Given the description of an element on the screen output the (x, y) to click on. 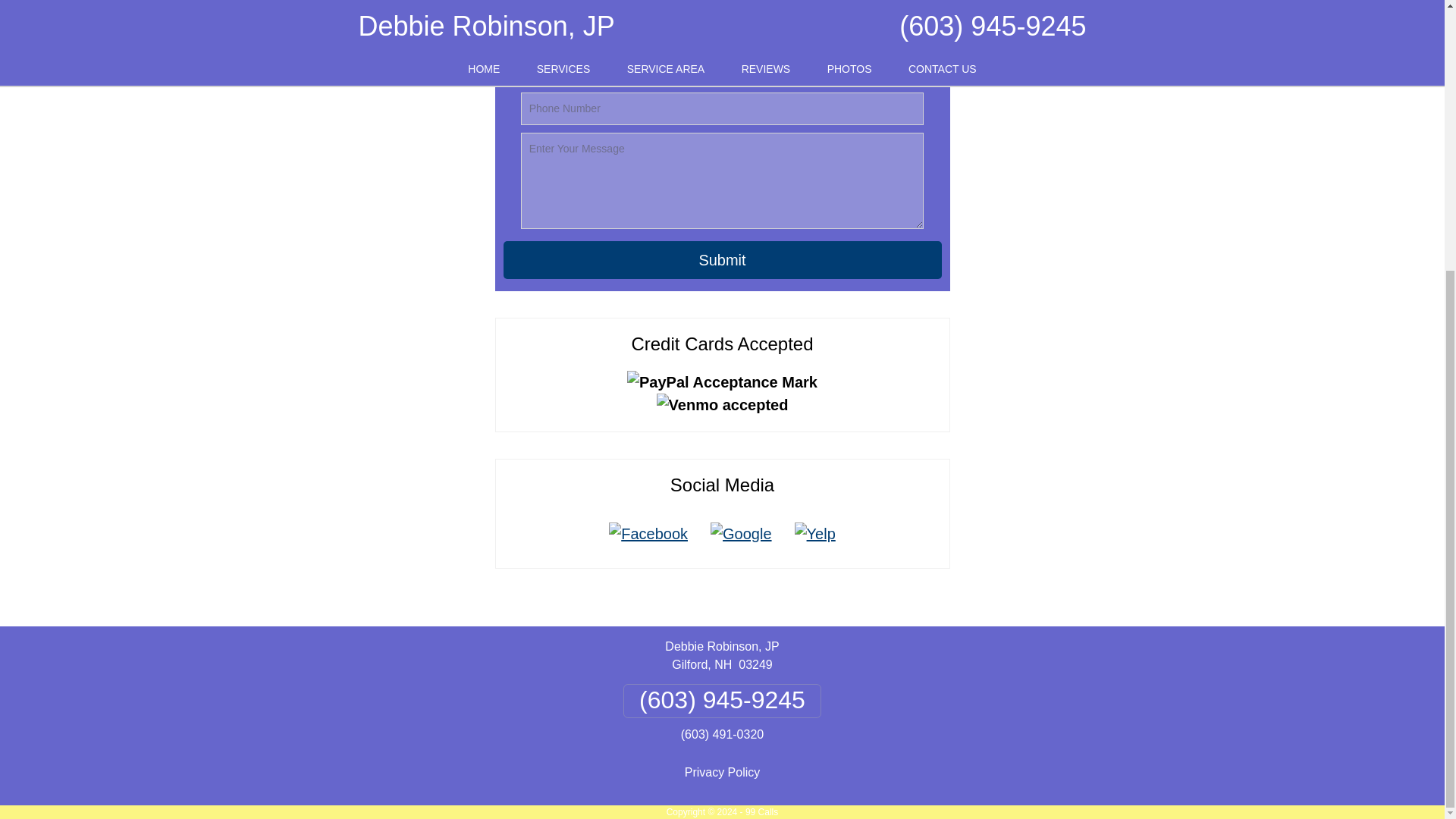
Google (740, 533)
Submit (722, 259)
Privacy Policy (722, 771)
Yelp (815, 533)
Facebook (647, 533)
